Given the description of an element on the screen output the (x, y) to click on. 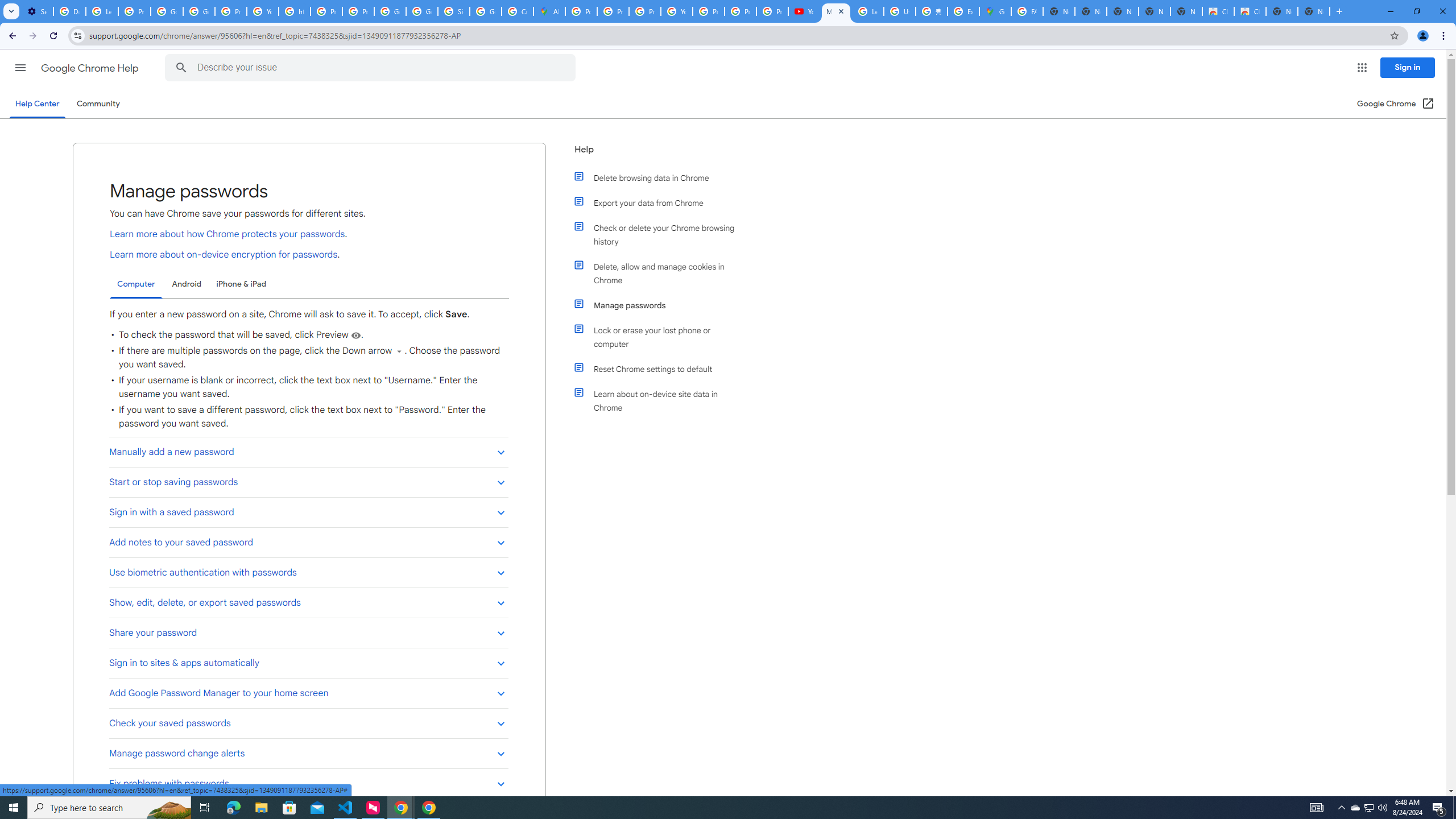
Check your saved passwords (308, 722)
Manage password change alerts (308, 752)
Reset Chrome settings to default (661, 368)
iPhone & iPad (240, 284)
Manage passwords (661, 305)
Classic Blue - Chrome Web Store (1217, 11)
Main menu (20, 67)
YouTube (804, 11)
Manage passwords - Computer - Google Chrome Help (836, 11)
Google Account Help (166, 11)
